Given the description of an element on the screen output the (x, y) to click on. 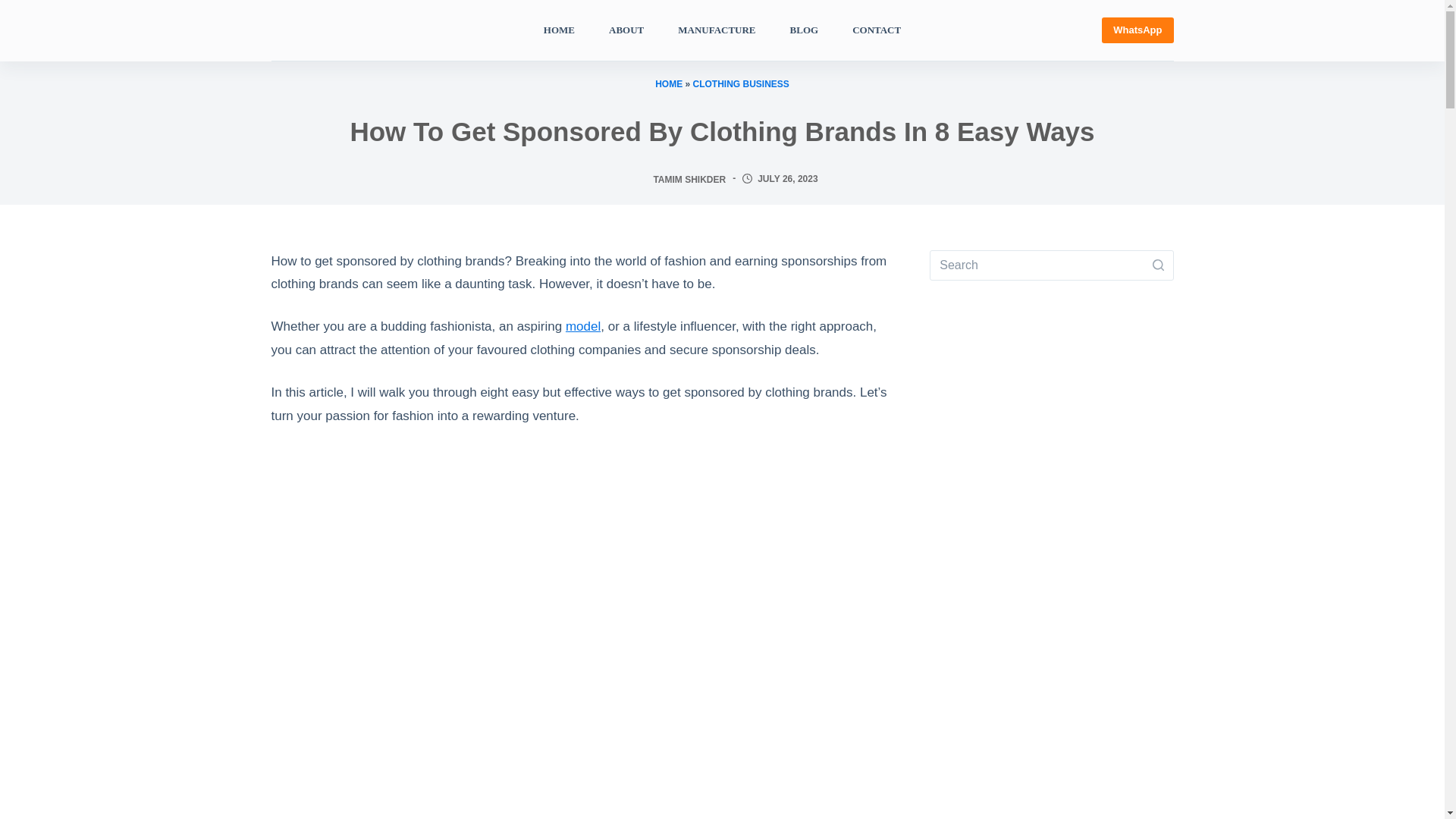
HOME (668, 83)
Search for... (1051, 265)
Skip to content (15, 7)
CONTACT (876, 30)
WhatsApp (1137, 30)
ABOUT (626, 30)
CLOTHING BUSINESS (741, 83)
TAMIM SHIKDER (688, 178)
Posts by Tamim Shikder (688, 178)
BLOG (804, 30)
